Given the description of an element on the screen output the (x, y) to click on. 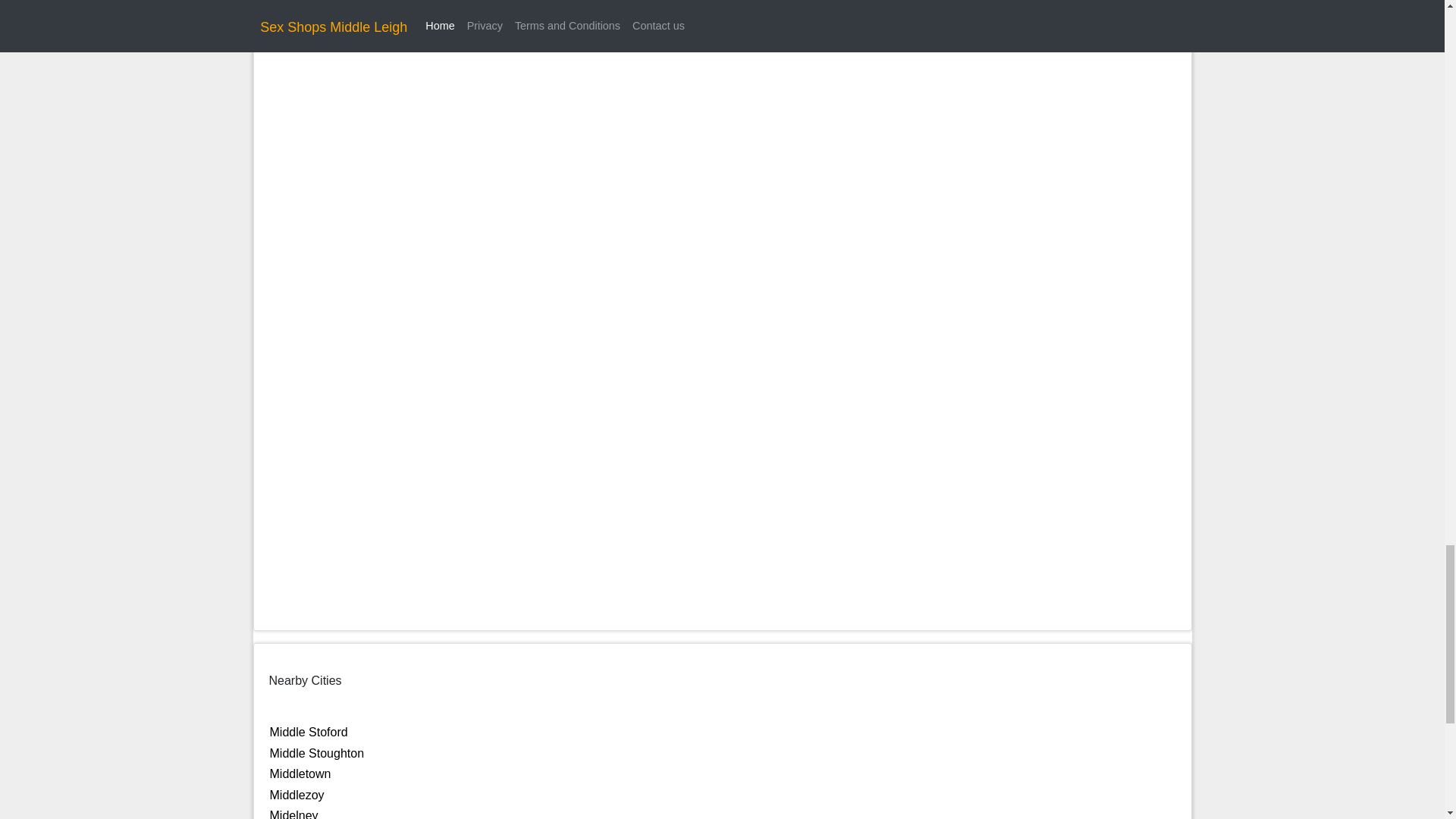
Middletown (300, 773)
Midelney (293, 814)
Middlezoy (296, 794)
Middle Stoughton (317, 753)
Middle Stoford (308, 731)
